Given the description of an element on the screen output the (x, y) to click on. 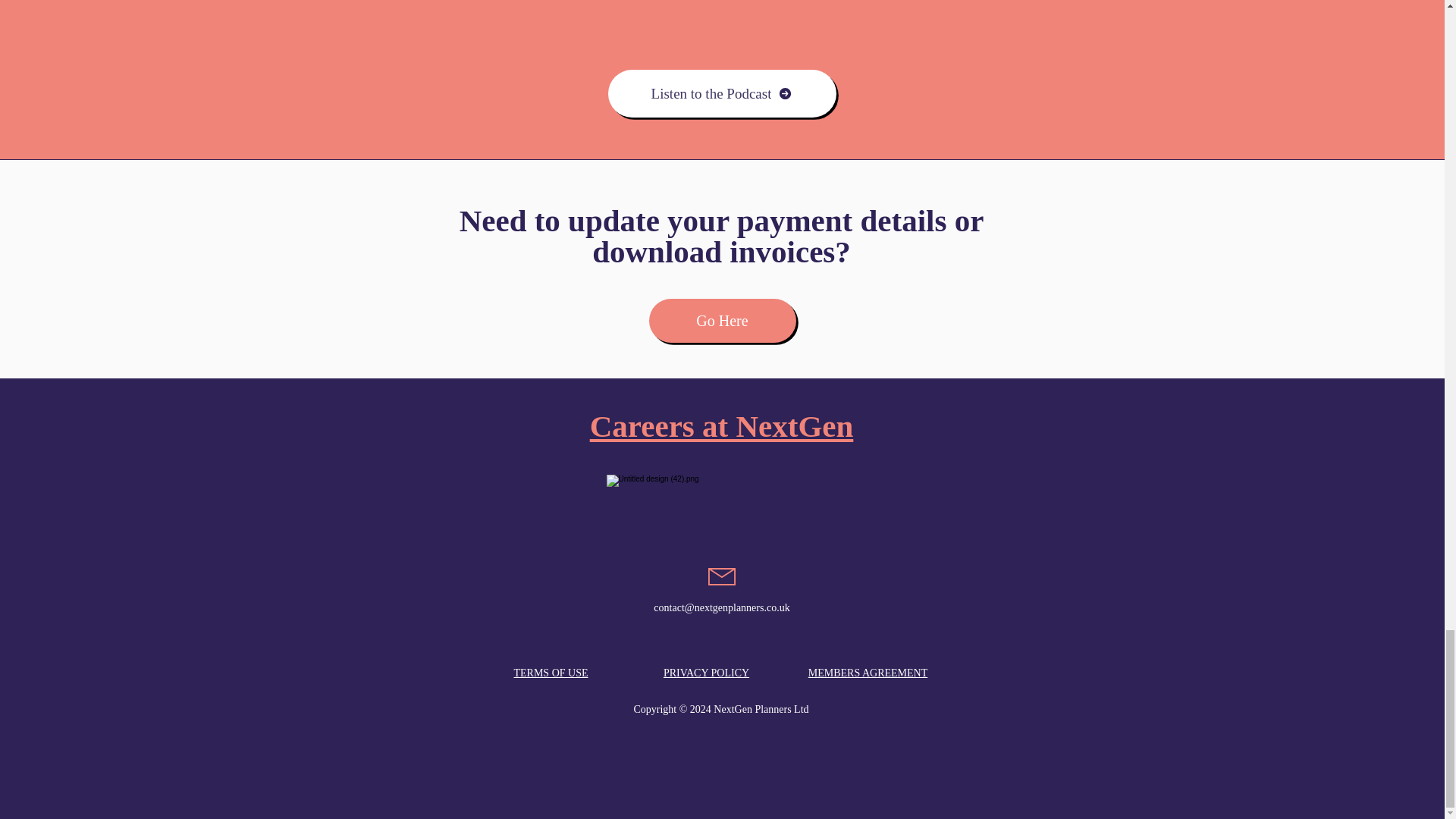
Listen to the Podcast (721, 93)
TERMS OF USE (550, 672)
Go Here (722, 320)
MEMBERS AGREEMENT (868, 672)
PRIVACY POLICY (706, 672)
Careers at NextGen (721, 425)
